Given the description of an element on the screen output the (x, y) to click on. 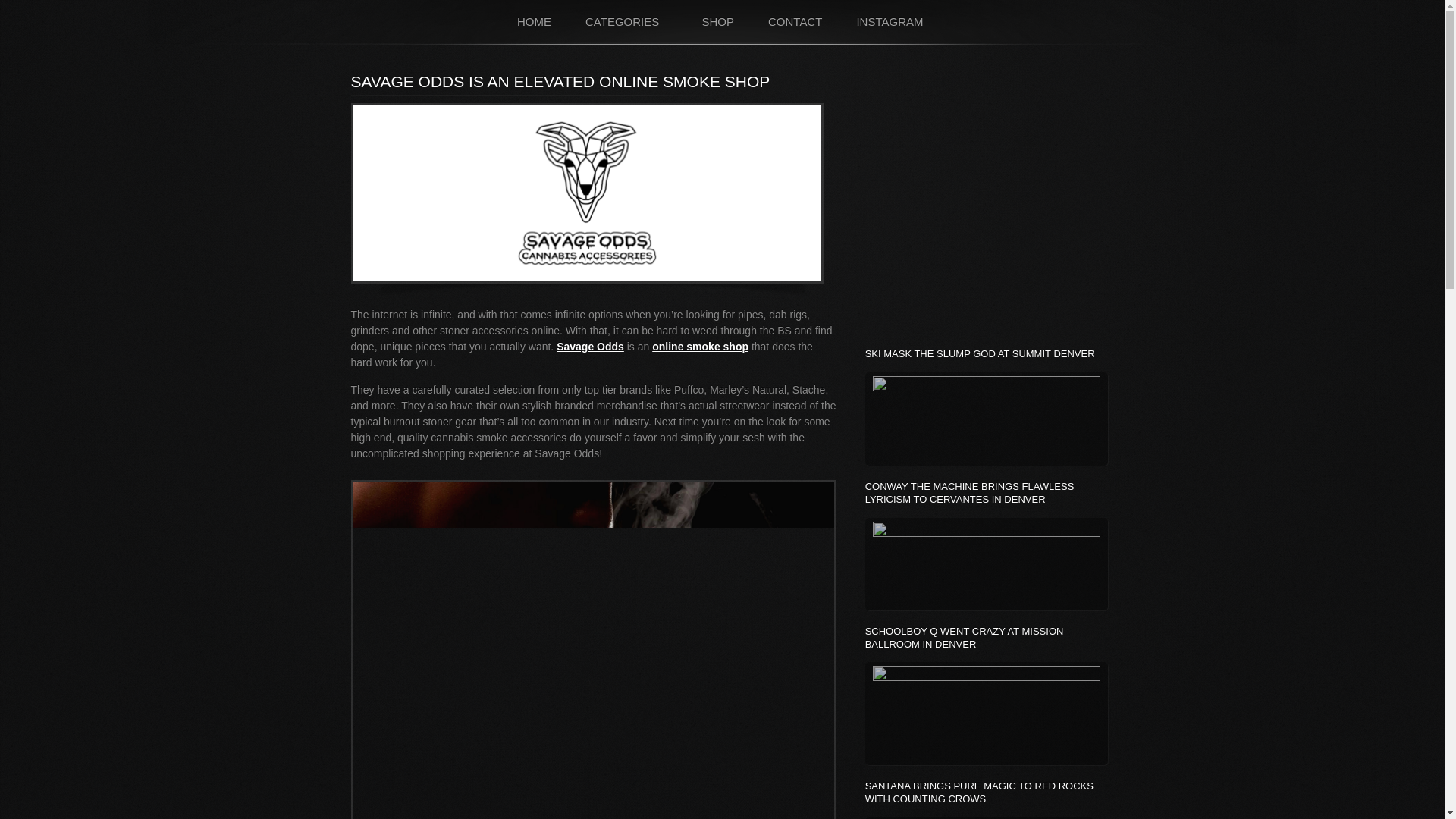
SAVAGE ODDS IS AN ELEVATED ONLINE SMOKE SHOP (560, 81)
online smoke shop (700, 346)
INSTAGRAM (890, 21)
SHOP (717, 21)
HOME (534, 21)
CONTACT (795, 21)
Savage Odds (590, 346)
contact (795, 21)
